Given the description of an element on the screen output the (x, y) to click on. 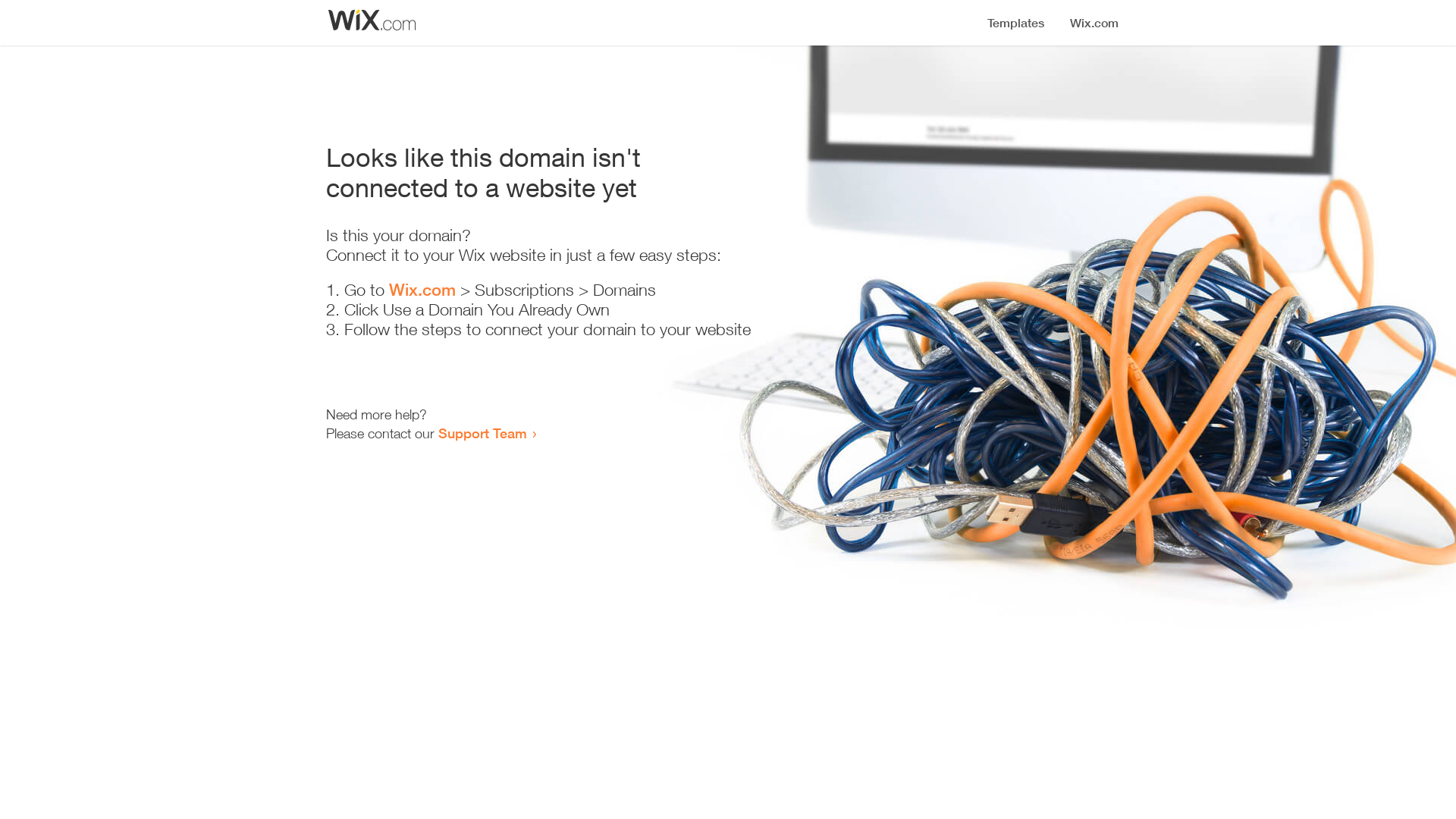
Wix.com Element type: text (422, 289)
Support Team Element type: text (482, 432)
